Given the description of an element on the screen output the (x, y) to click on. 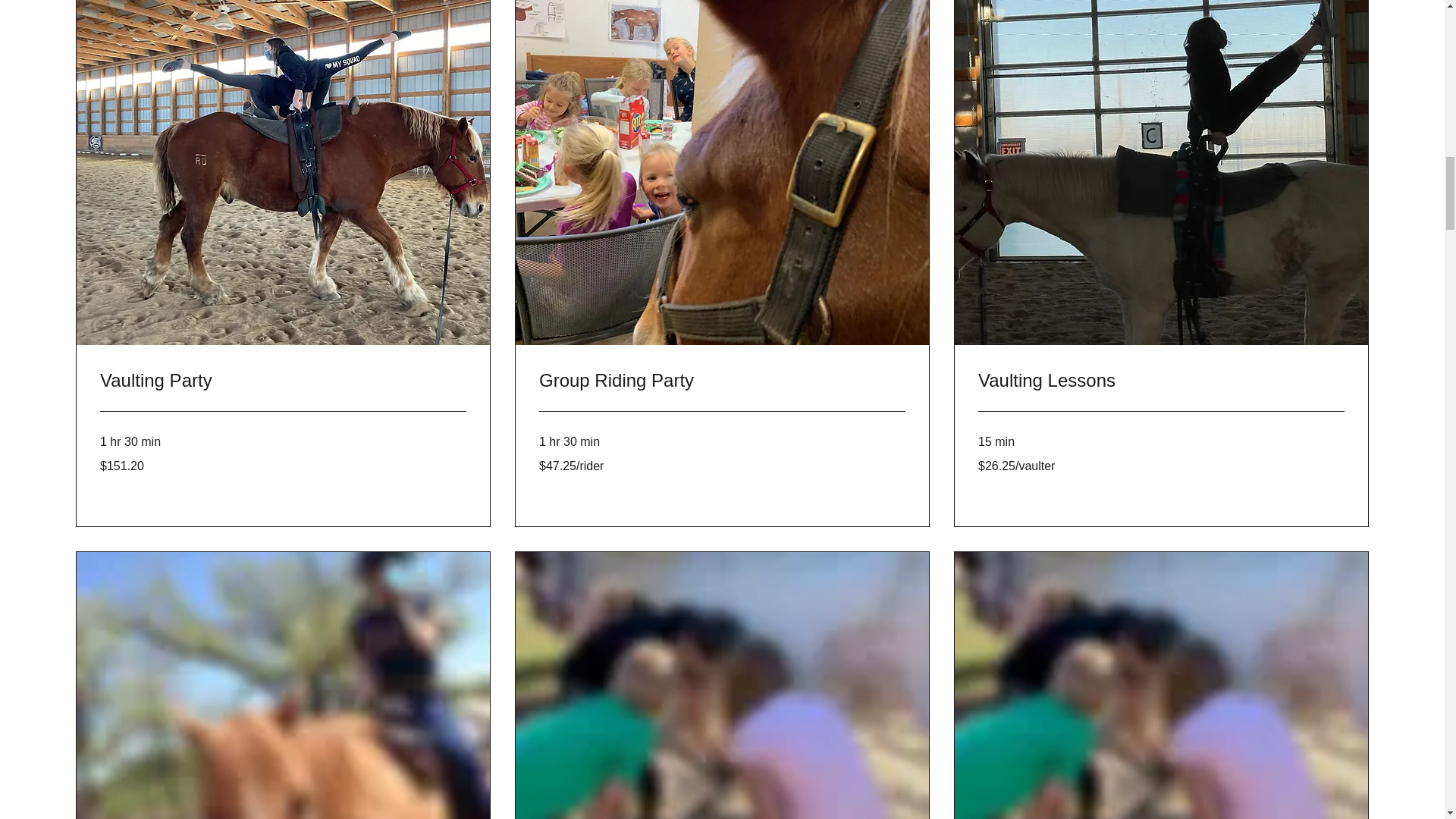
Group Riding Party (721, 380)
Vaulting Lessons (1160, 380)
Vaulting Party (282, 380)
